Given the description of an element on the screen output the (x, y) to click on. 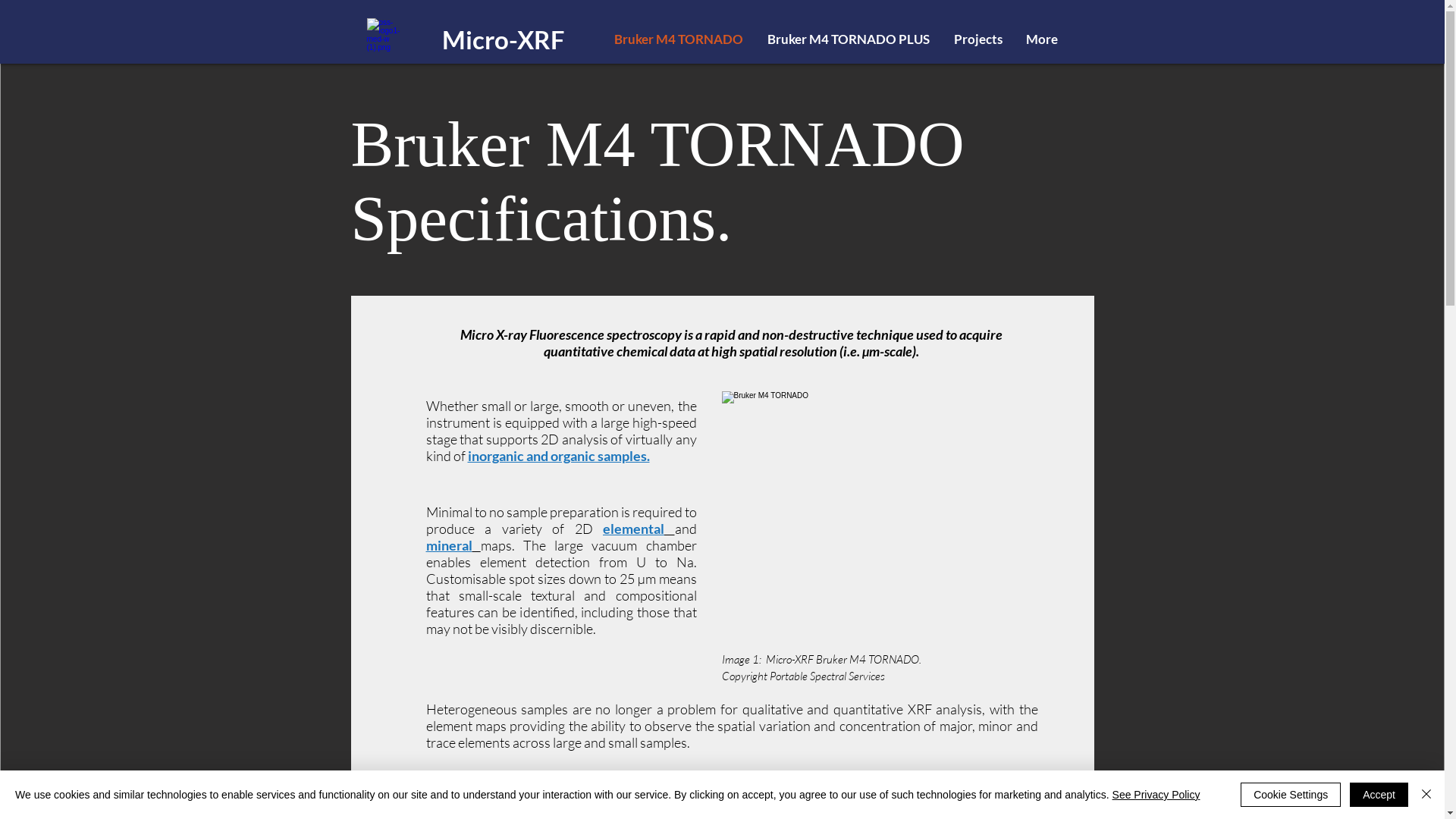
Cookie Settings Element type: text (1290, 794)
Bruker M4 TORNADO PLUS Element type: text (848, 39)
Projects Element type: text (977, 39)
elemental Element type: text (638, 528)
inorganic and organic samples. Element type: text (558, 455)
Accept Element type: text (1378, 794)
Bruker M4 TORNADO Element type: text (678, 39)
See Privacy Policy Element type: text (1156, 794)
Bruker M4 TORNADO Element type: hover (877, 512)
mineral Element type: text (453, 544)
Micro-XRF Element type: text (502, 39)
